Given the description of an element on the screen output the (x, y) to click on. 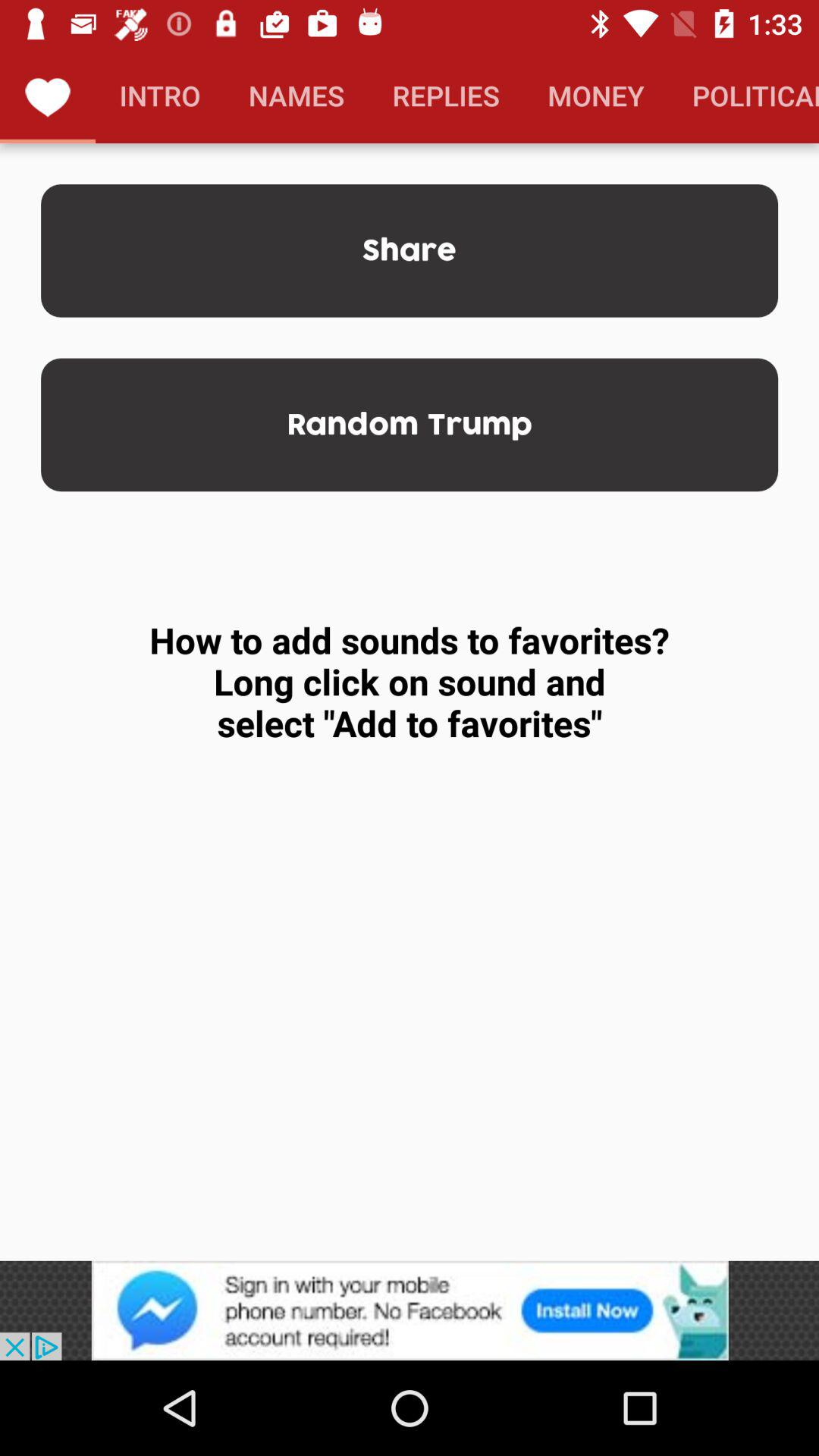
pop-up advertisement (409, 1310)
